Given the description of an element on the screen output the (x, y) to click on. 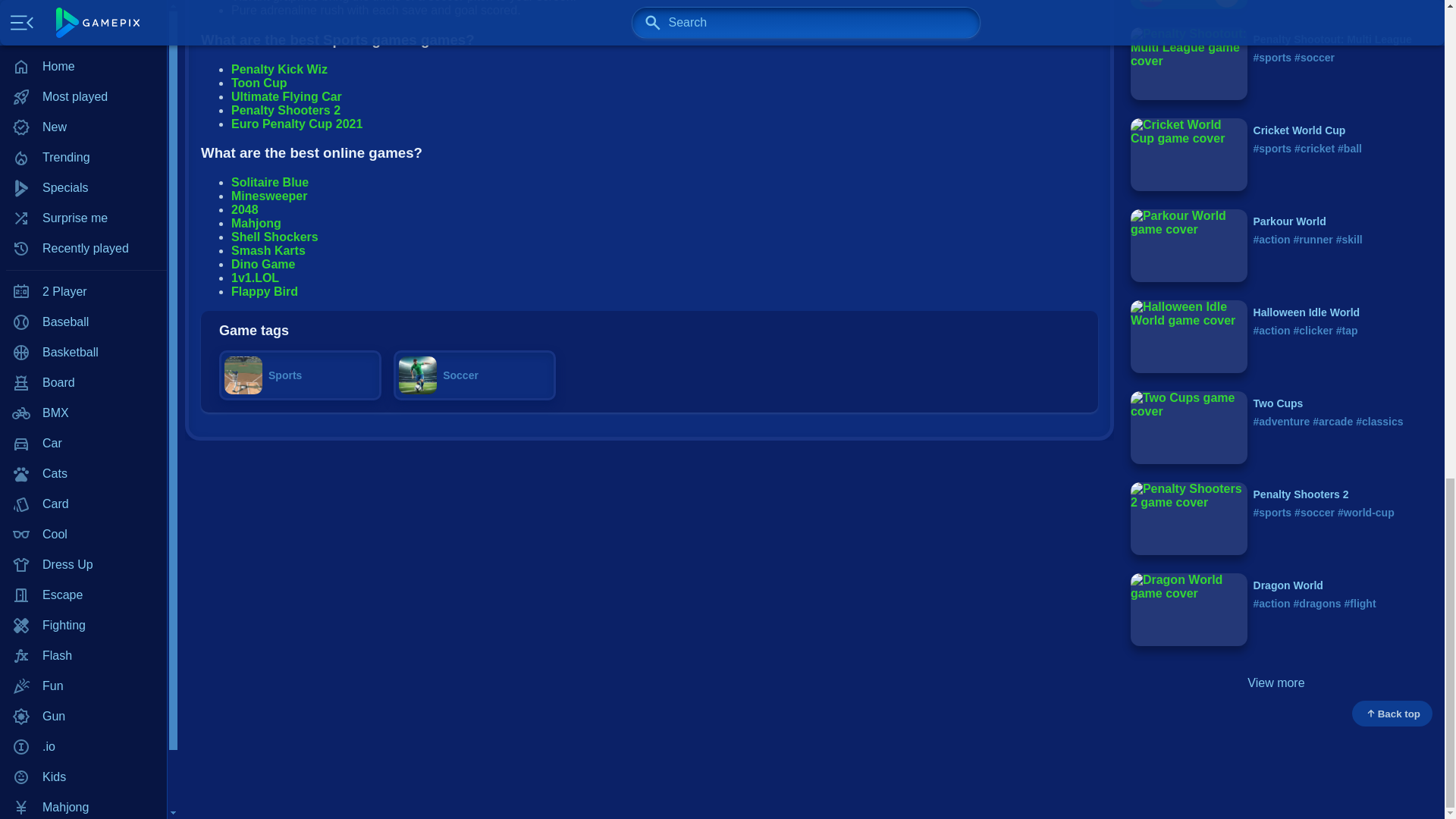
Zombie (83, 41)
Word (83, 13)
